Given the description of an element on the screen output the (x, y) to click on. 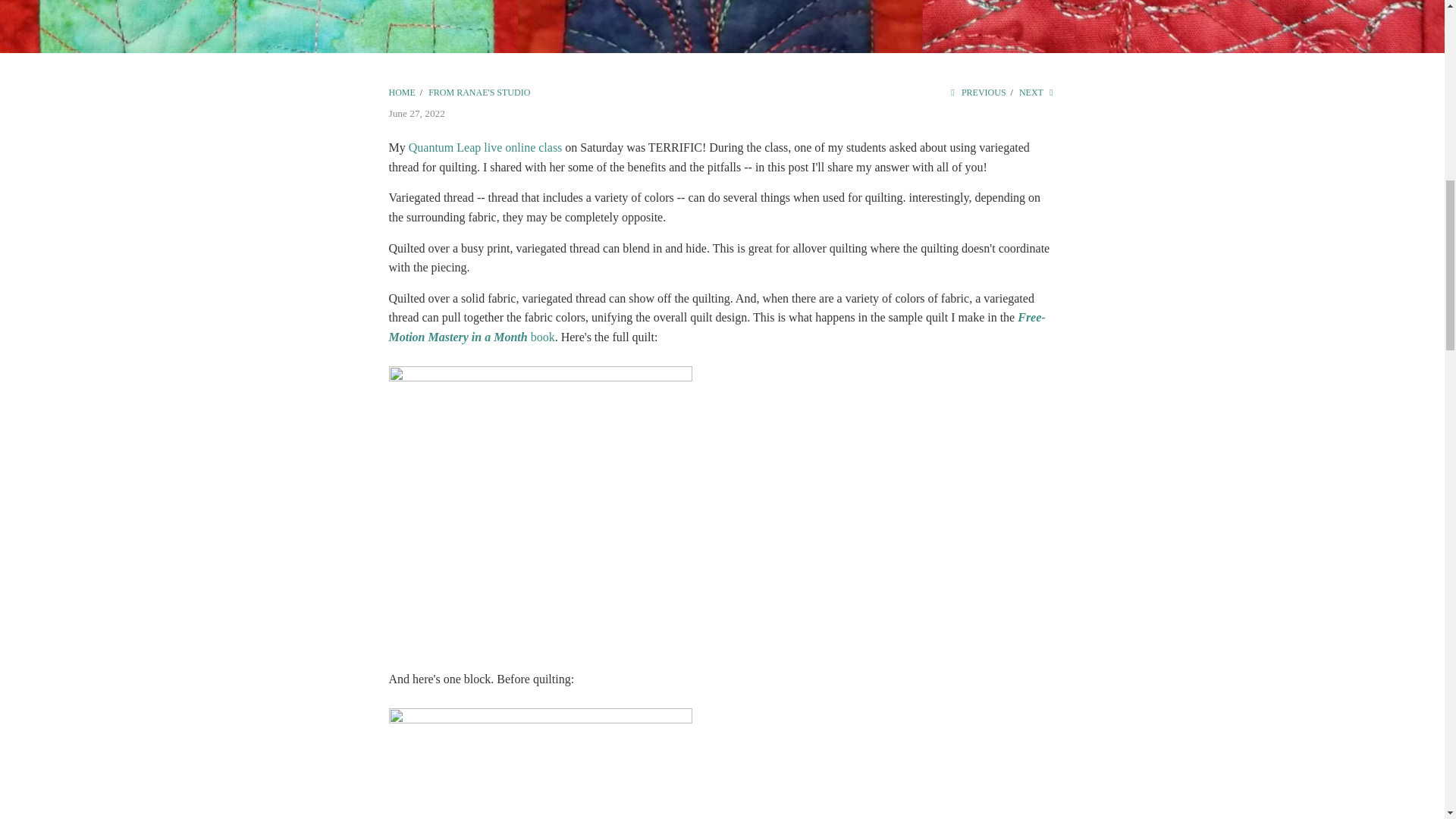
From RaNae's Studio (478, 91)
RaNae Merrill Quilt Design (401, 91)
